Given the description of an element on the screen output the (x, y) to click on. 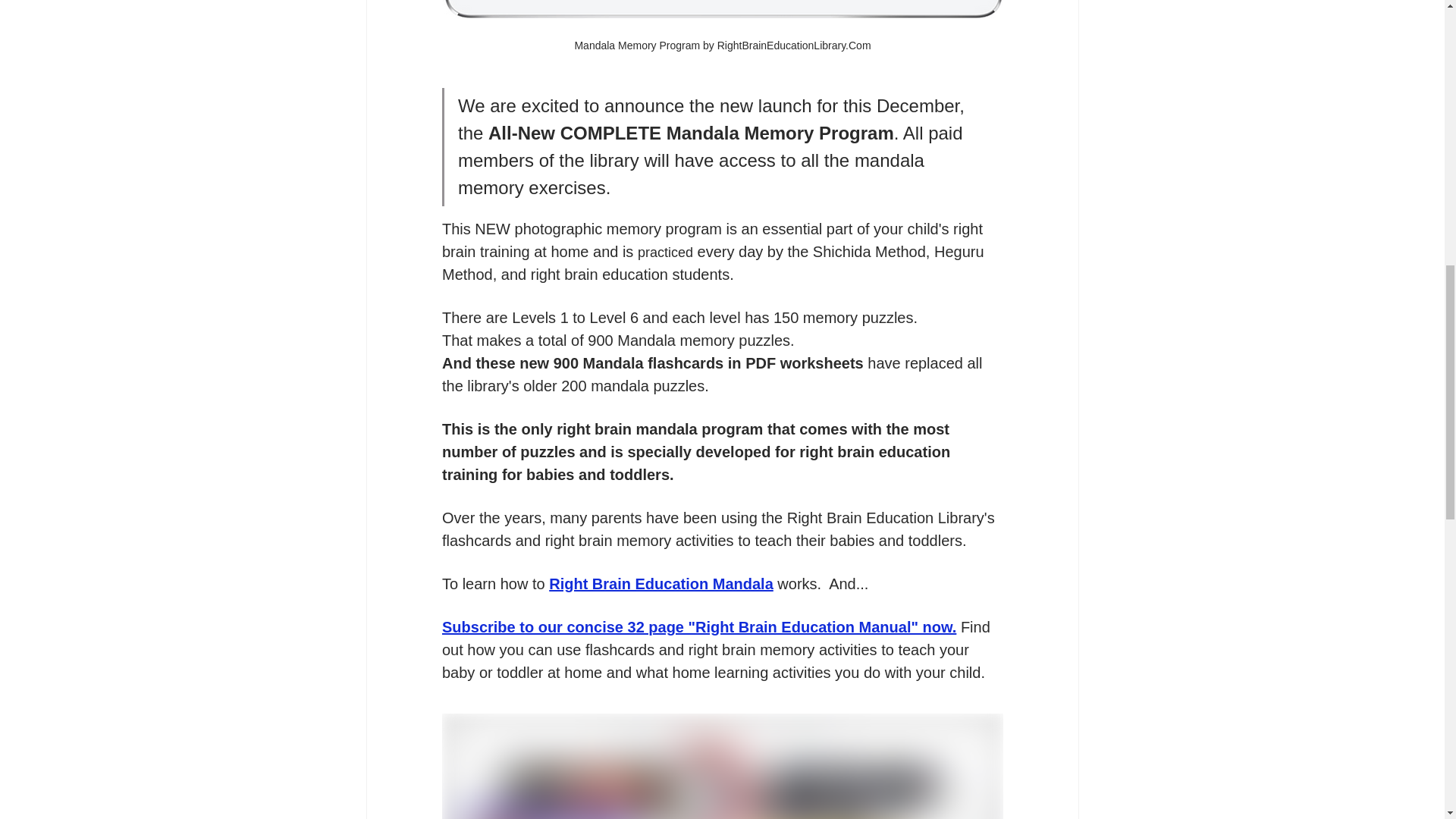
Mandala Memory Program by RightBrainEducationLibrary.Com (722, 33)
Right Brain Education Mandala (660, 584)
